Given the description of an element on the screen output the (x, y) to click on. 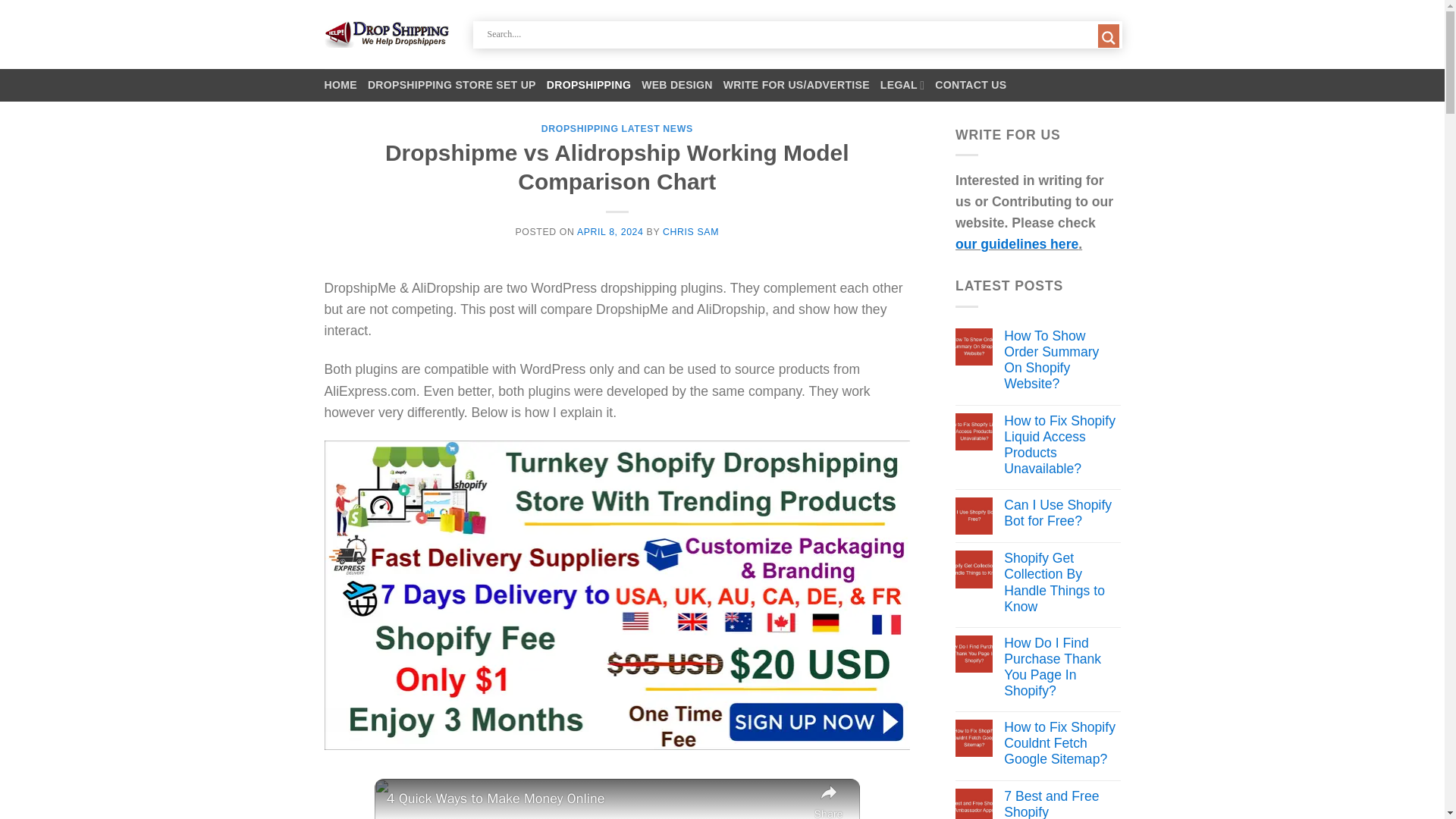
Dropshippinghelps - We Help Dropshippers (386, 34)
LEGAL (902, 84)
DROPSHIPPING STORE SET UP (451, 84)
CONTACT US (970, 84)
4 Quick Ways to Make Money Online (596, 798)
CHRIS SAM (690, 231)
HOME (340, 84)
DROPSHIPPING LATEST NEWS (617, 128)
DROPSHIPPING (588, 84)
WEB DESIGN (677, 84)
APRIL 8, 2024 (609, 231)
